Given the description of an element on the screen output the (x, y) to click on. 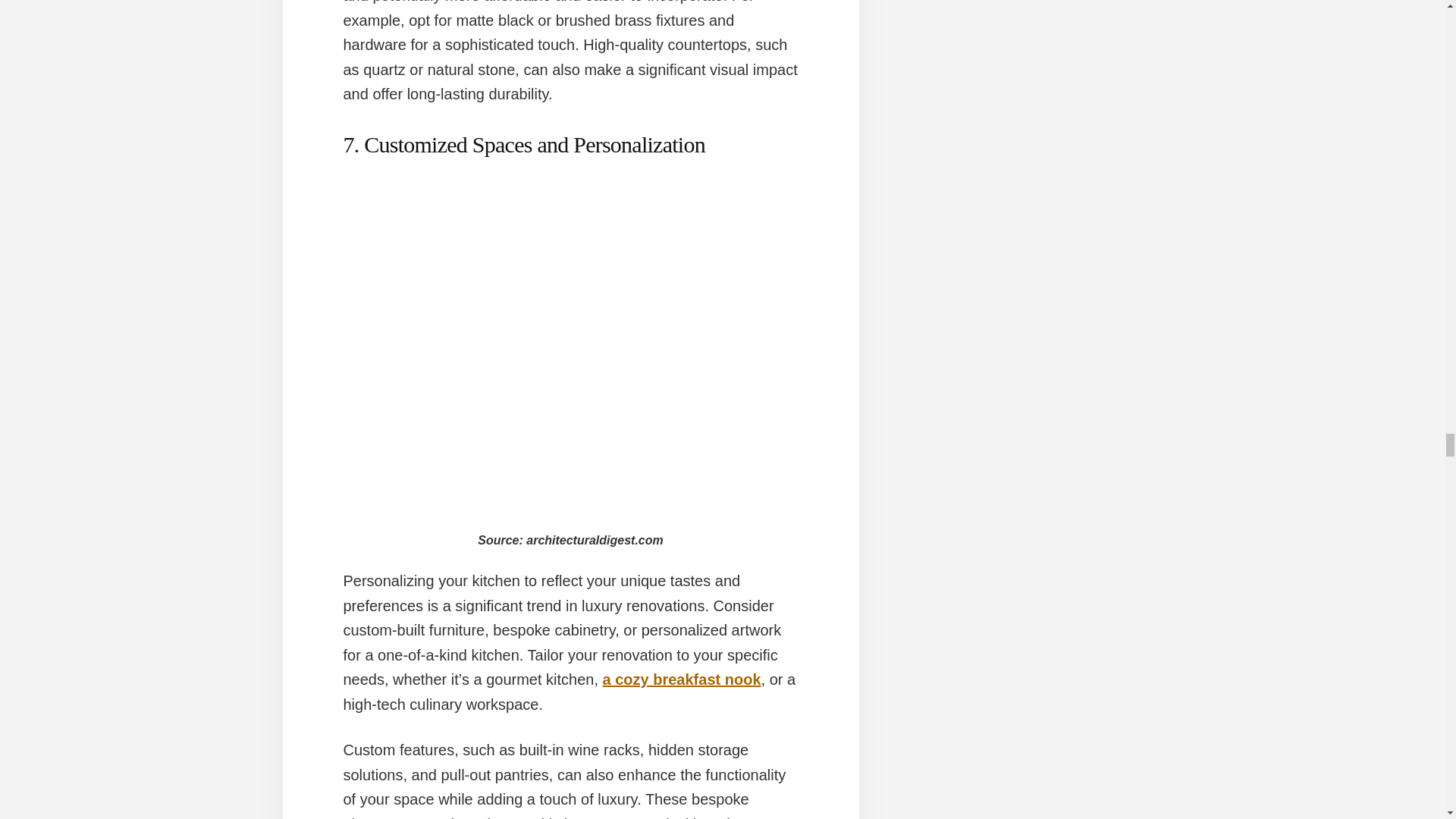
a cozy breakfast nook (681, 678)
